Given the description of an element on the screen output the (x, y) to click on. 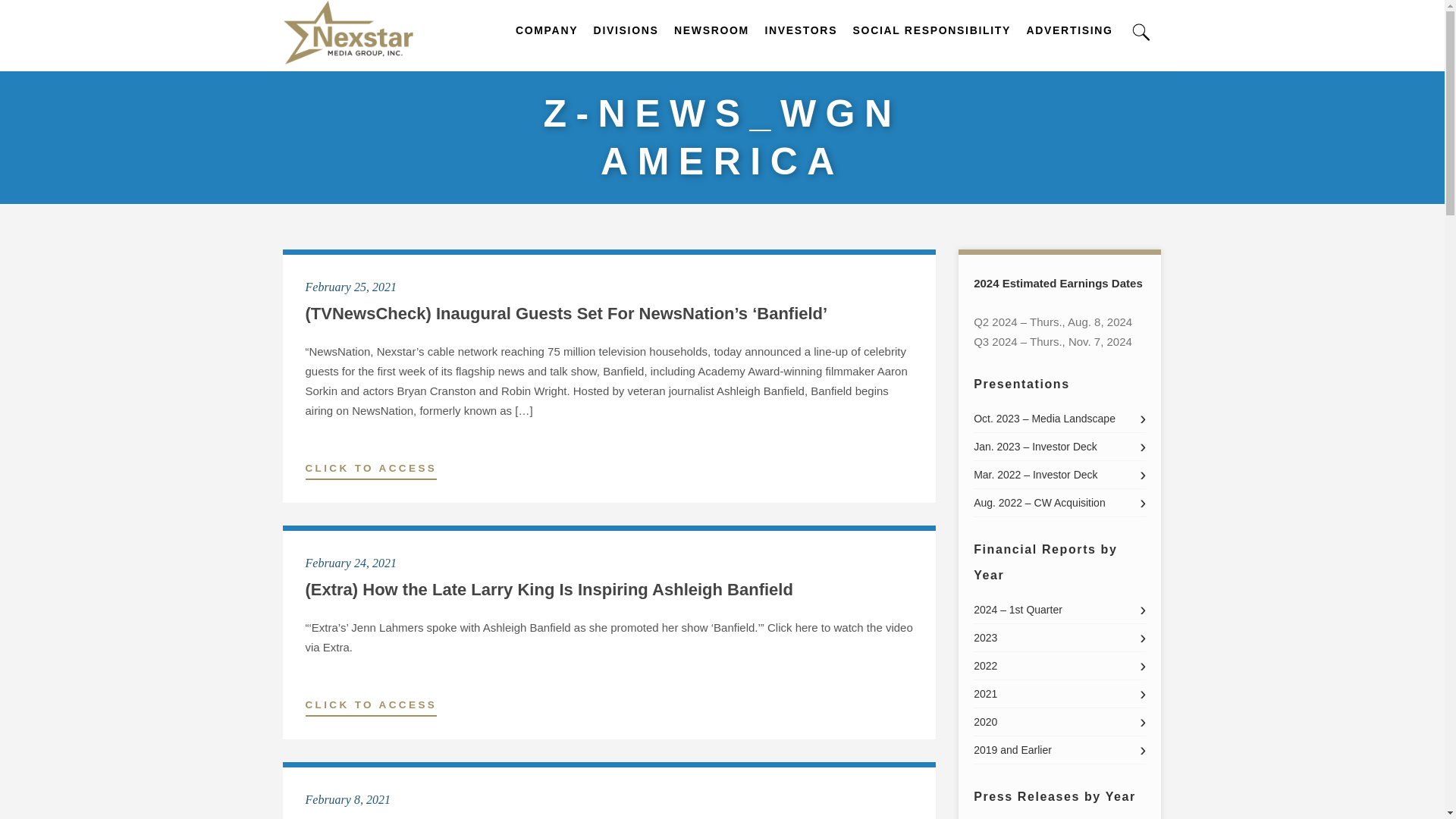
SOCIAL RESPONSIBILITY (932, 49)
INVESTORS (800, 49)
NEWSROOM (711, 49)
COMPANY (546, 49)
DIVISIONS (626, 49)
